Given the description of an element on the screen output the (x, y) to click on. 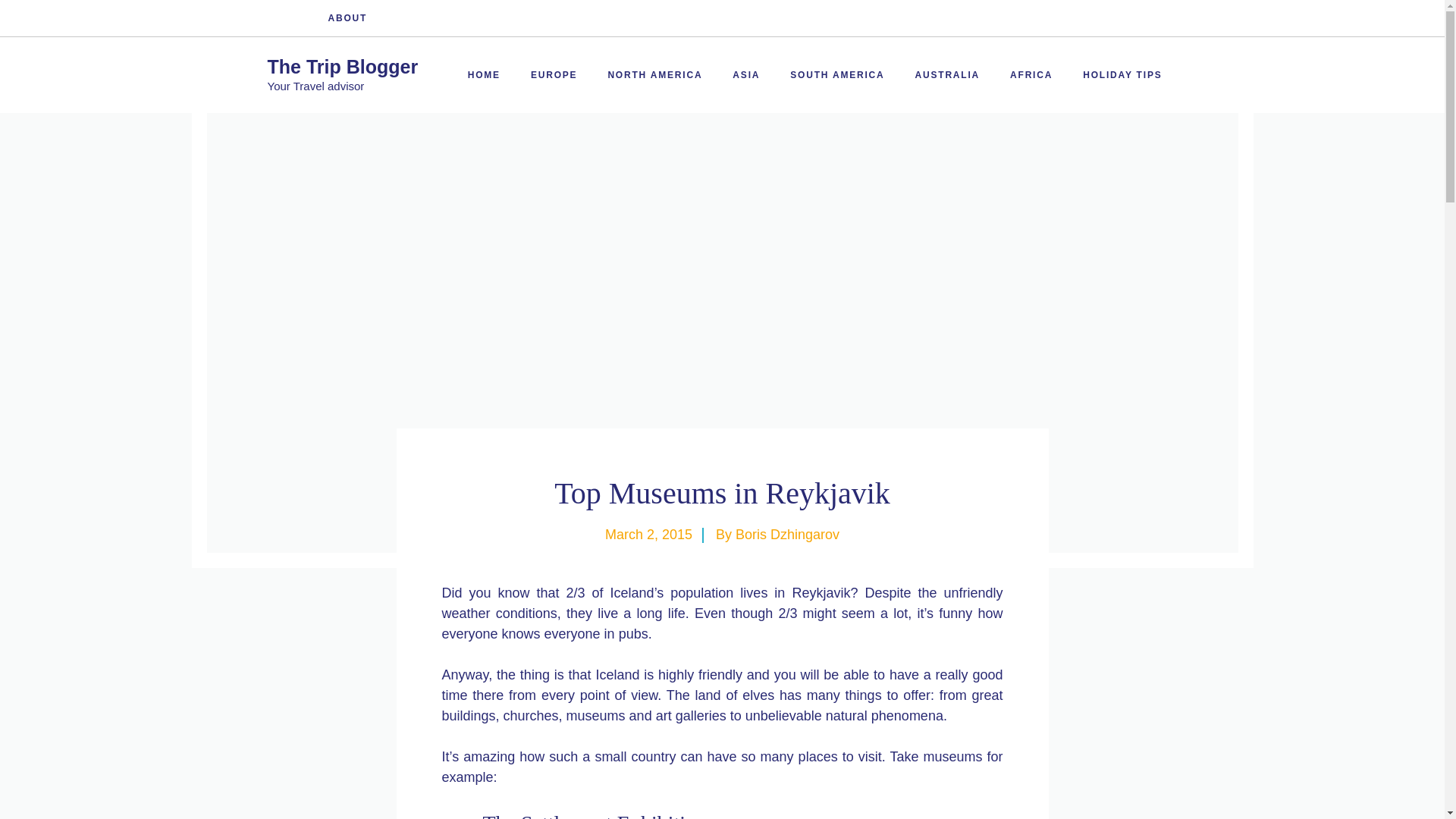
The Trip Blogger (341, 66)
HOME (483, 74)
ABOUT (346, 18)
AUSTRALIA (947, 74)
EUROPE (553, 74)
NORTH AMERICA (654, 74)
AFRICA (1030, 74)
ASIA (745, 74)
Boris Dzhingarov (787, 534)
HOLIDAY TIPS (1121, 74)
